Given the description of an element on the screen output the (x, y) to click on. 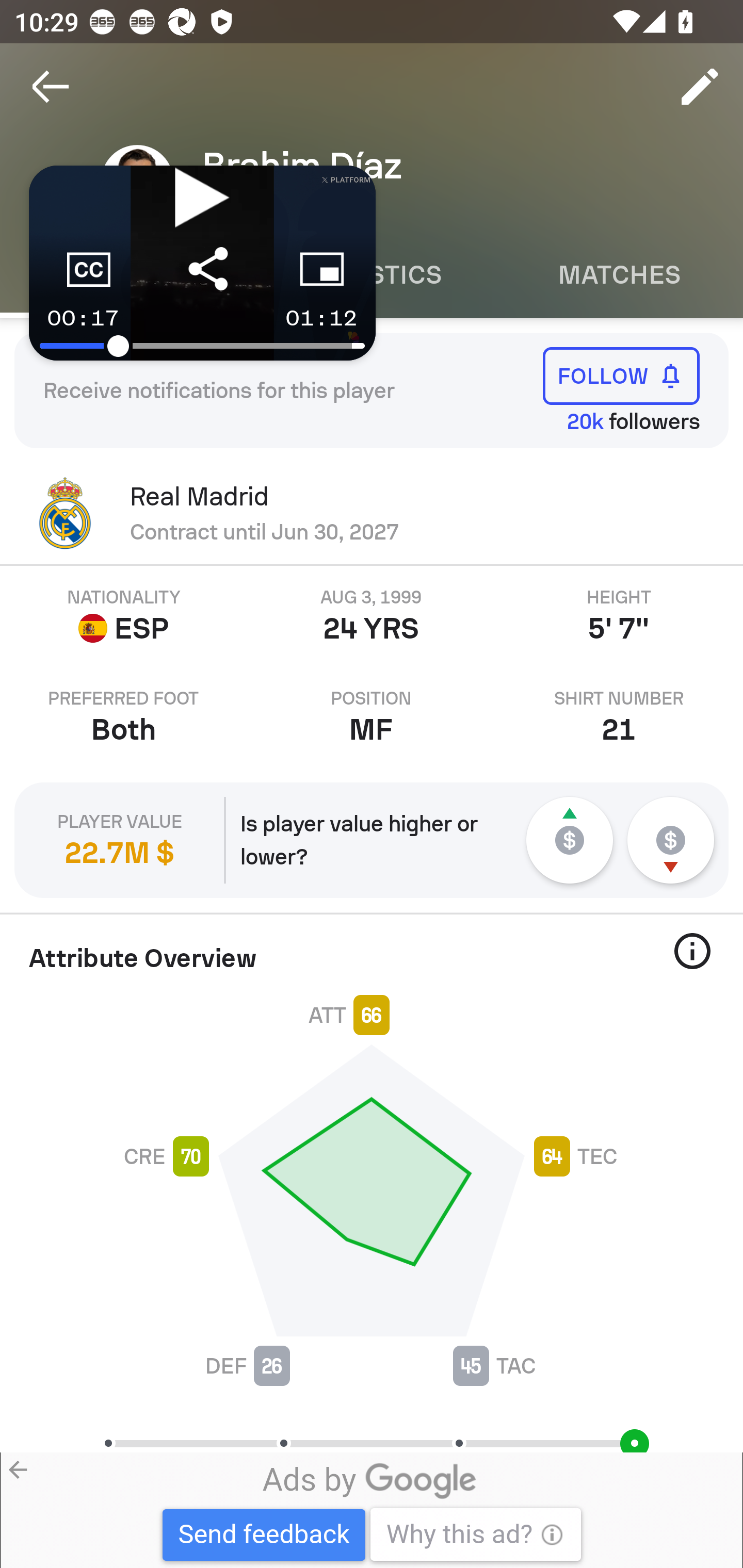
Navigate up (50, 86)
Edit (699, 86)
Matches MATCHES (619, 275)
FOLLOW (621, 375)
Real Madrid Contract until Jun 30, 2027 (371, 513)
NATIONALITY ESP (123, 616)
POSITION MF (371, 717)
